Given the description of an element on the screen output the (x, y) to click on. 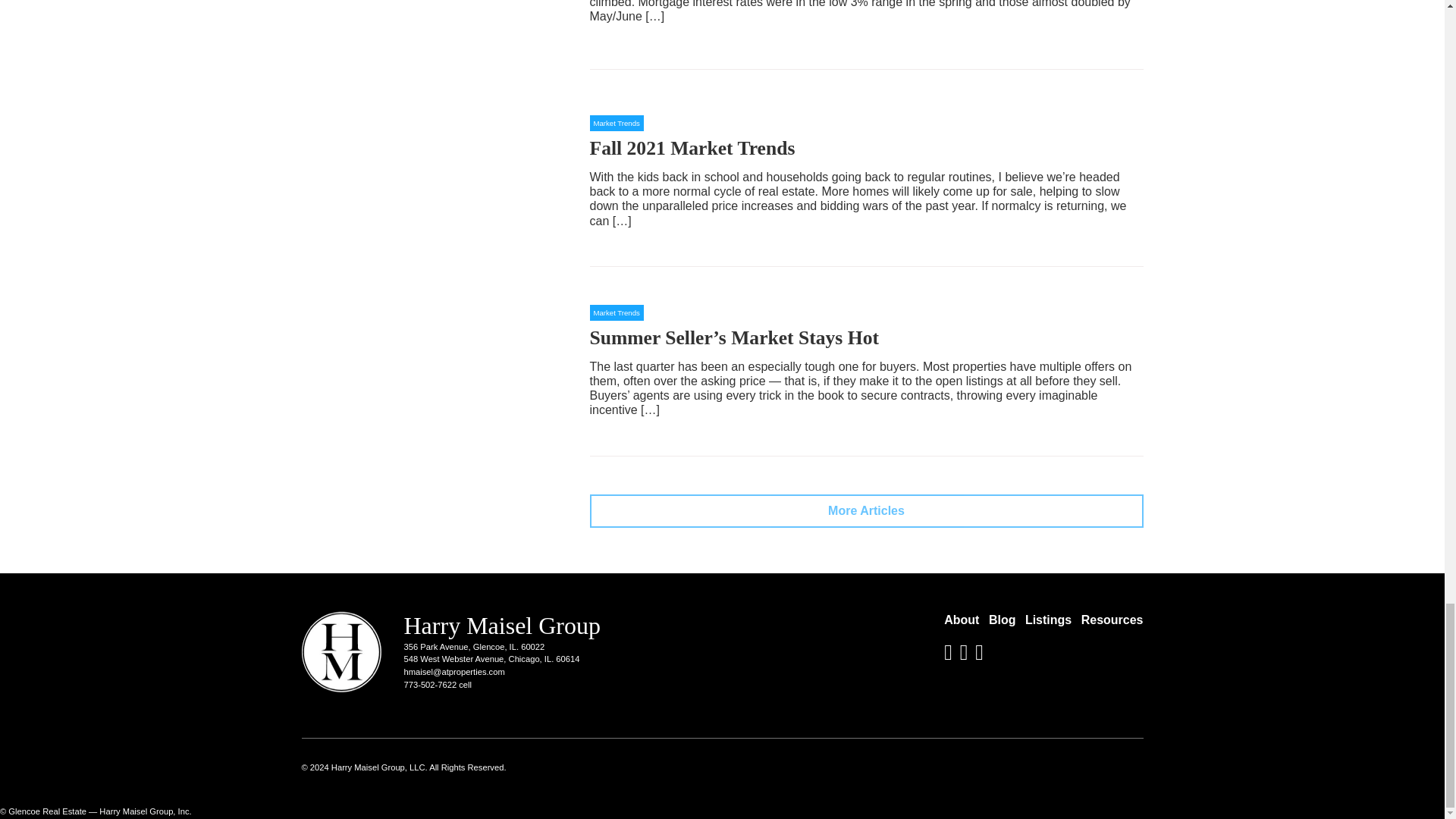
About (960, 619)
Resources (1111, 619)
Market Trends (616, 123)
Listings (1048, 619)
Blog (1002, 619)
More Articles (865, 510)
773-502-7622 (430, 684)
Market Trends (616, 312)
Fall 2021 Market Trends (691, 147)
